Given the description of an element on the screen output the (x, y) to click on. 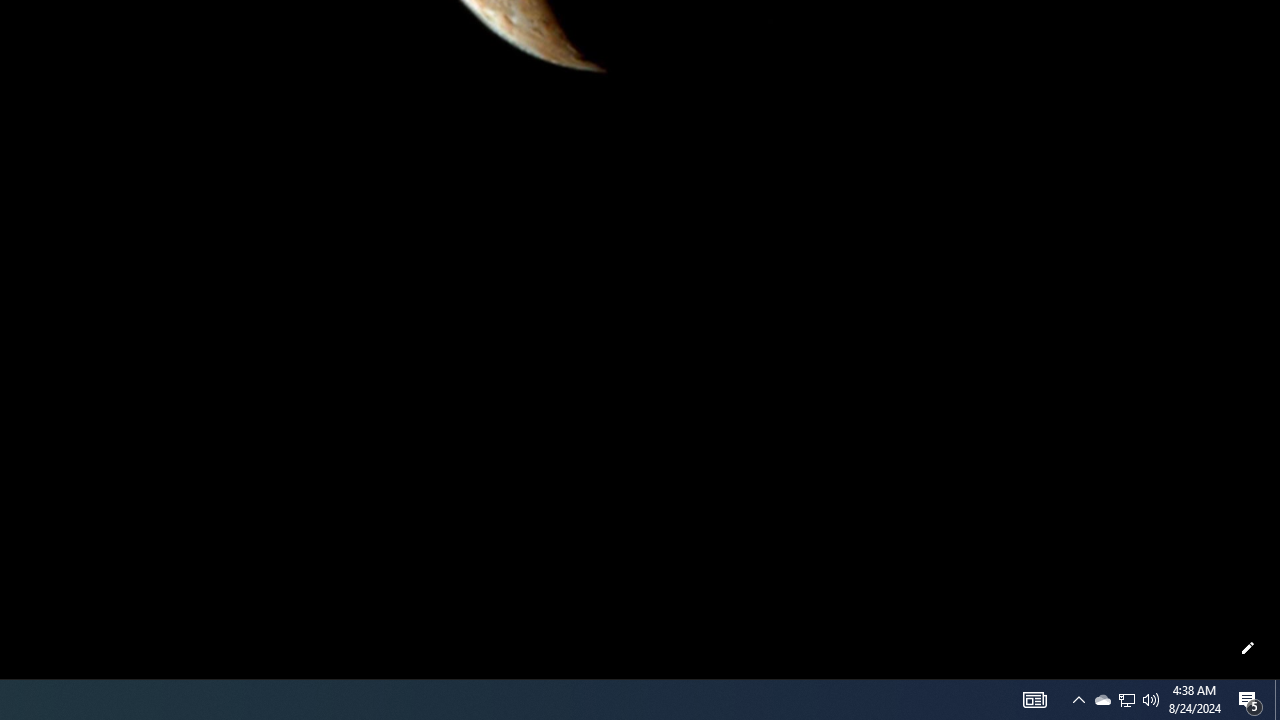
Customize this page (1247, 647)
